Given the description of an element on the screen output the (x, y) to click on. 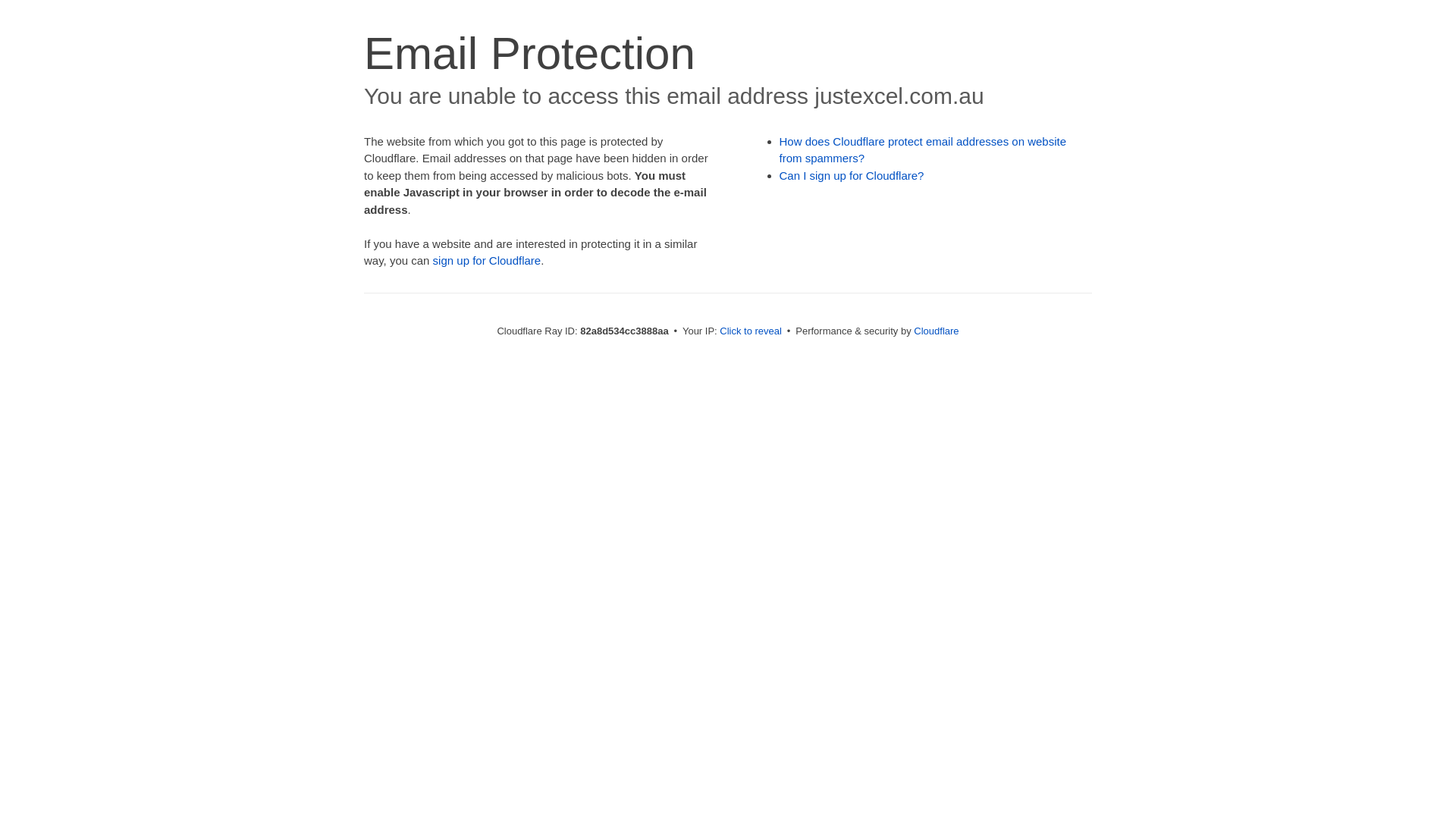
Cloudflare Element type: text (935, 330)
Can I sign up for Cloudflare? Element type: text (851, 175)
sign up for Cloudflare Element type: text (487, 260)
Click to reveal Element type: text (750, 330)
